Given the description of an element on the screen output the (x, y) to click on. 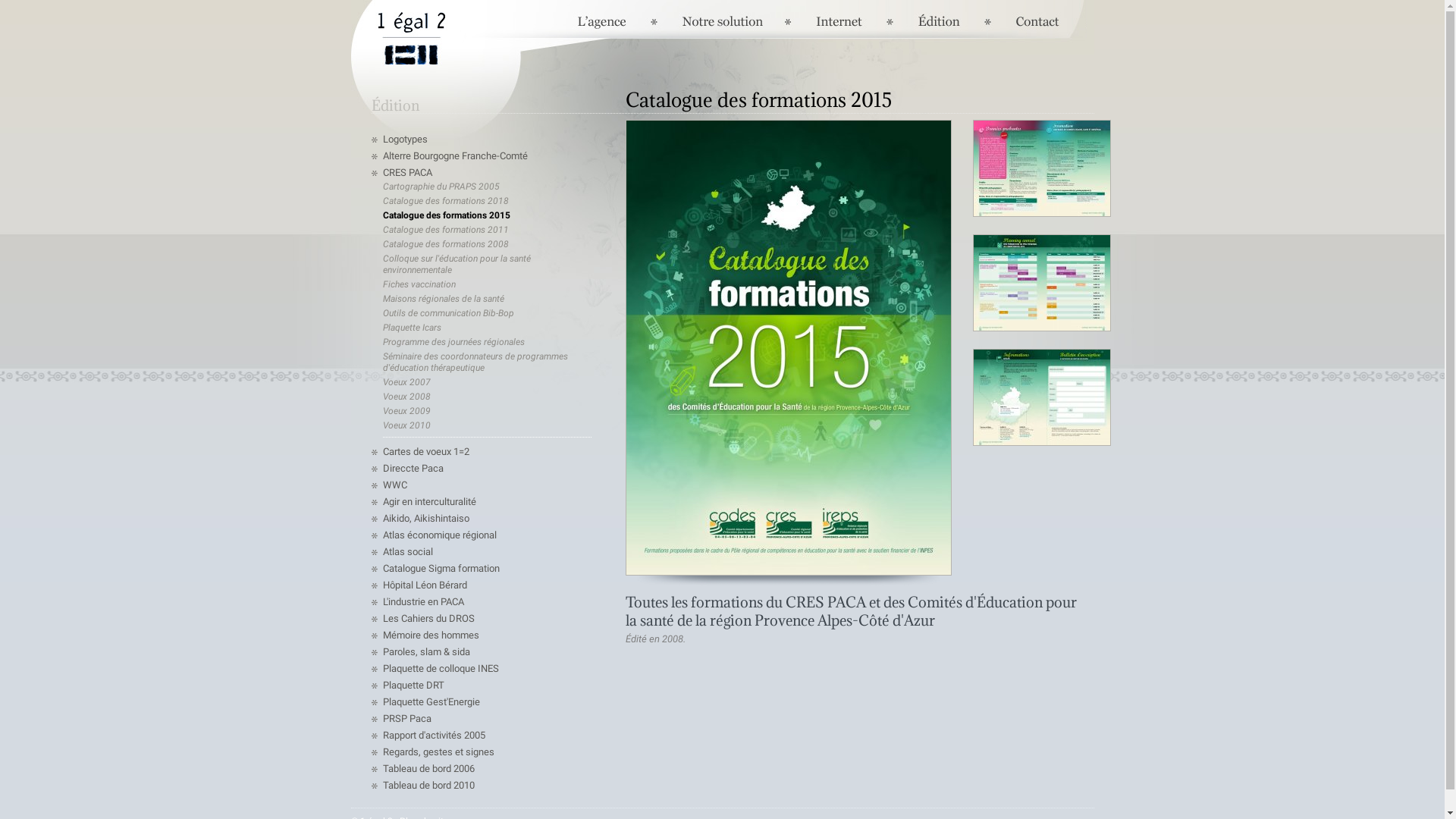
Plaquette de colloque INES Element type: text (440, 668)
Planning des formations 2015 du CRES Paca Element type: hover (1041, 342)
Cartographie du PRAPS 2005 Element type: text (440, 186)
Voeux 2010 Element type: text (405, 425)
Atlas social Element type: text (407, 551)
Aikido, Aikishintaiso Element type: text (425, 518)
PRSP Paca Element type: text (406, 718)
Catalogue Sigma formation Element type: text (440, 568)
Plaquette DRT Element type: text (412, 684)
Plaquette Gest'Energie Element type: text (430, 701)
Les Cahiers du DROS Element type: text (427, 618)
Regards, gestes et signes Element type: text (437, 751)
L'industrie en PACA Element type: text (422, 601)
Planning des formations 2015 du CRES Paca Element type: hover (1041, 282)
CRES PACA Element type: text (406, 172)
WWC Element type: text (394, 484)
Voeux 2007 Element type: text (405, 381)
Programme du catalogue des formations 2015 du CRES Paca Element type: hover (1041, 167)
Direccte Paca Element type: text (412, 467)
Logotypes Element type: text (404, 138)
Catalogue des formations 2018 Element type: text (445, 200)
Programme du catalogue des formations 2015 du CRES Paca Element type: hover (1041, 228)
Catalogue des formations 2011 Element type: text (445, 229)
Tableau de bord 2006 Element type: text (427, 768)
Bulletin d'inscription aux formations 2015 du CRES Paca Element type: hover (1041, 396)
Fiches vaccination Element type: text (418, 284)
Catalogue des formations 2008 Element type: text (445, 243)
Cartes de voeux 1=2 Element type: text (425, 451)
Outils de communication Bib-Bop Element type: text (447, 312)
Catalogue des formations 2015 du CRES Paca Element type: hover (787, 346)
Voeux 2008 Element type: text (405, 396)
Voeux 2009 Element type: text (405, 410)
Bulletin d'inscription aux formations 2015 du CRES Paca Element type: hover (1041, 457)
Paroles, slam & sida Element type: text (425, 651)
Tableau de bord 2010 Element type: text (427, 784)
Catalogue des formations 2015 du CRES Paca Element type: hover (787, 347)
Plaquette Icars Element type: text (411, 327)
